Given the description of an element on the screen output the (x, y) to click on. 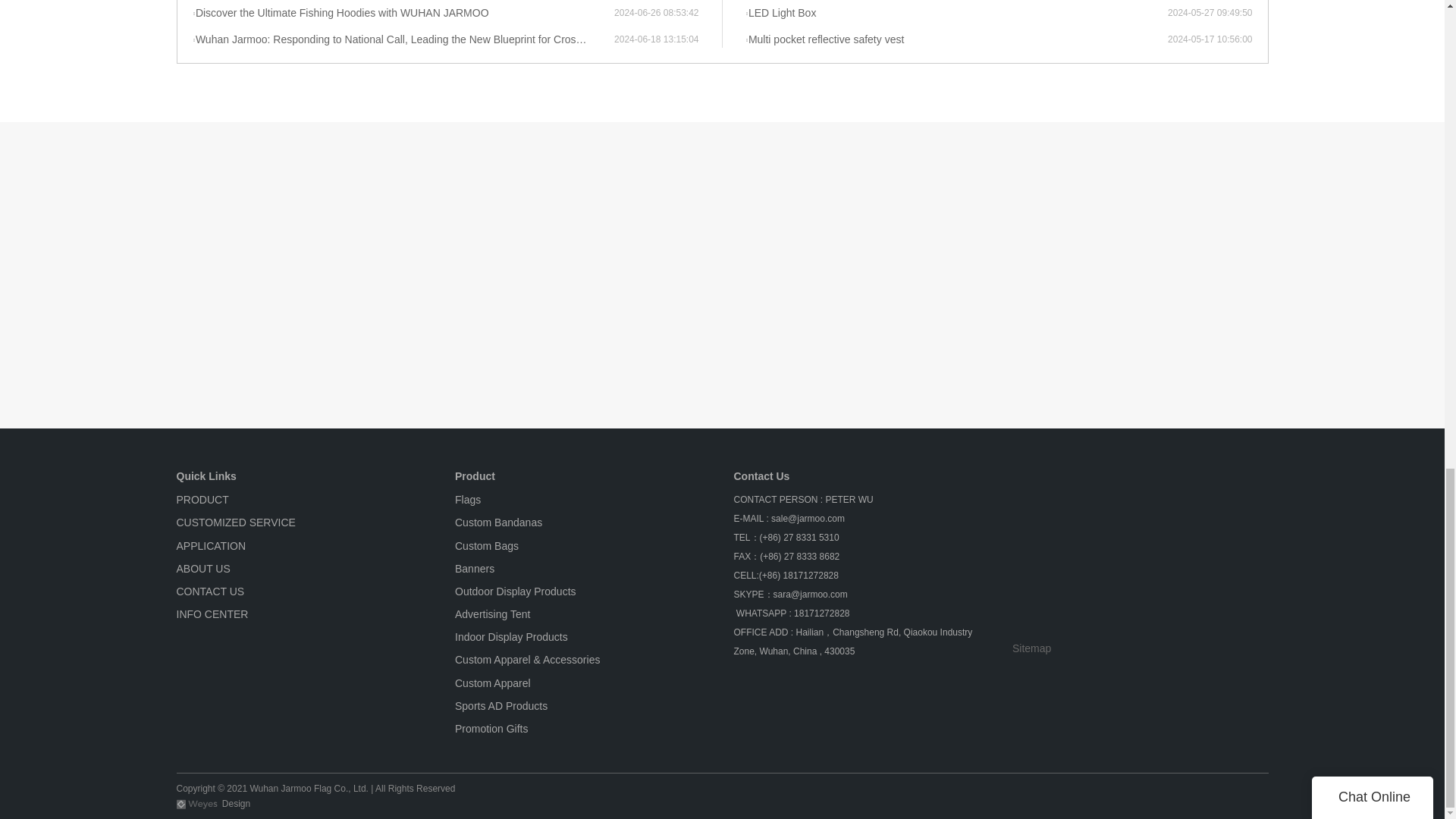
Discover the Ultimate Fishing Hoodies with WUHAN JARMOO (403, 13)
